Given the description of an element on the screen output the (x, y) to click on. 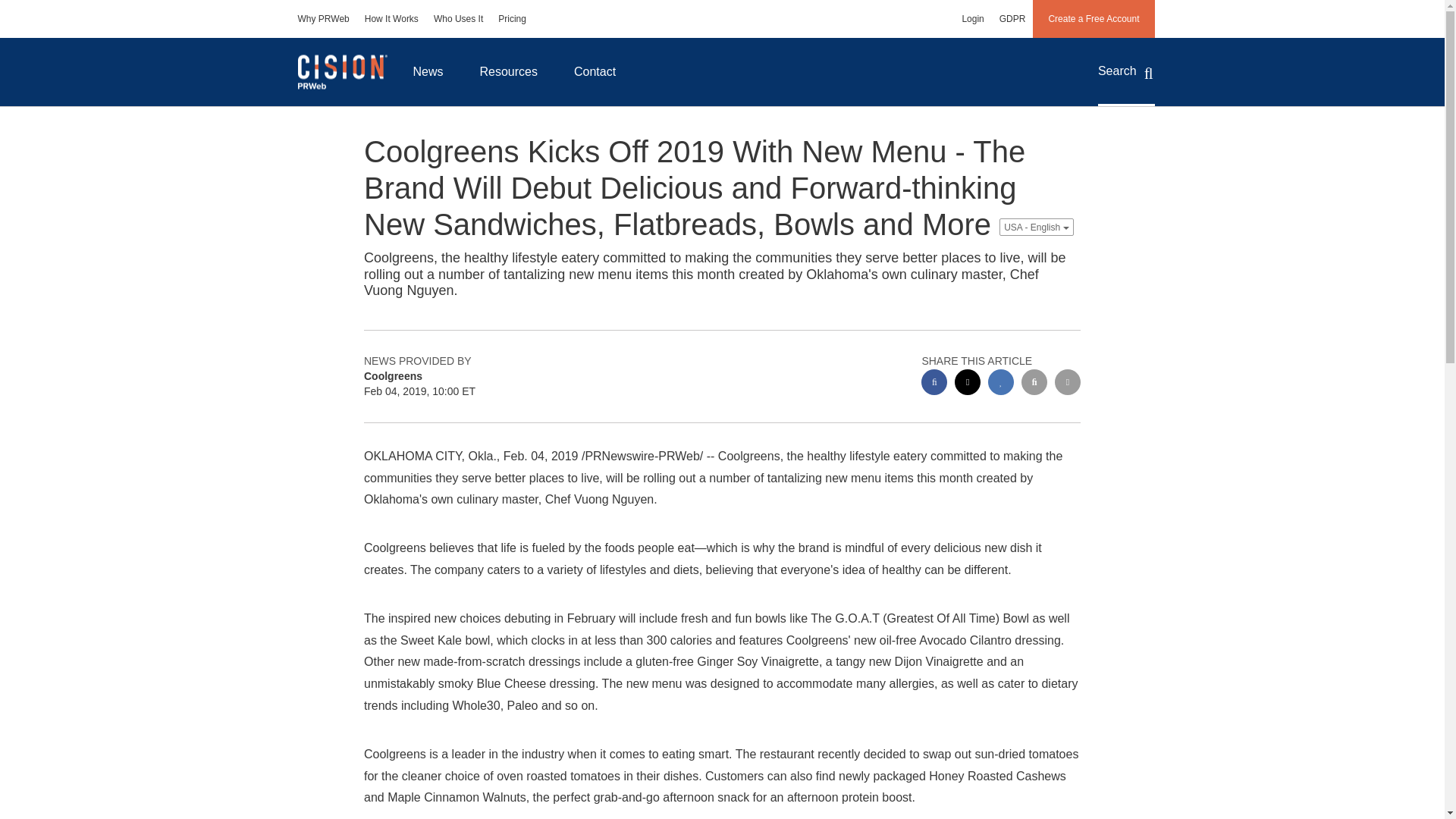
Why PRWeb (322, 18)
Resources (508, 71)
GDPR (1012, 18)
How It Works (391, 18)
Create a Free Account (1093, 18)
Contact (594, 71)
News (427, 71)
Login (972, 18)
Pricing (512, 18)
Who Uses It (458, 18)
